Given the description of an element on the screen output the (x, y) to click on. 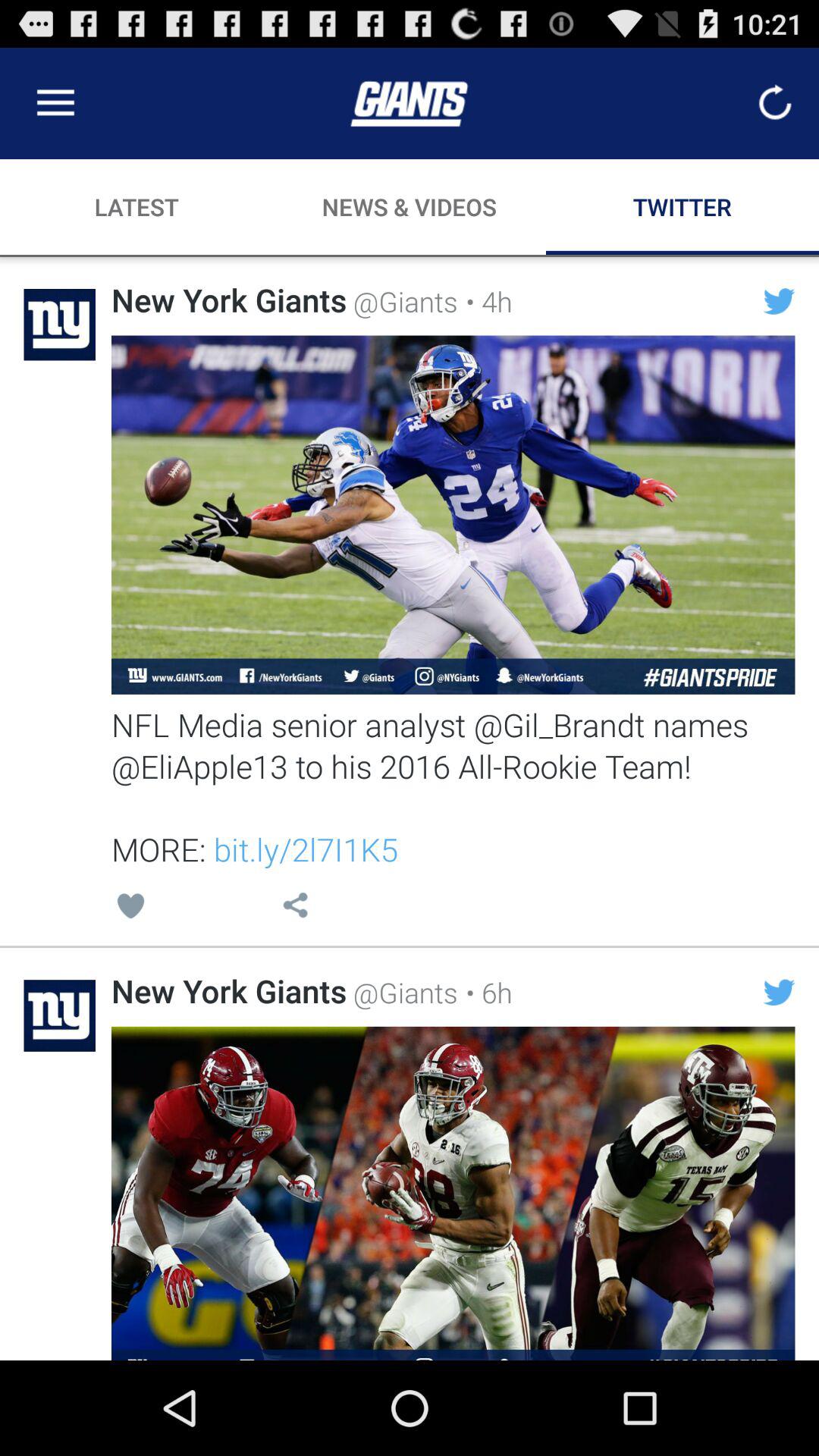
play video (453, 1193)
